Given the description of an element on the screen output the (x, y) to click on. 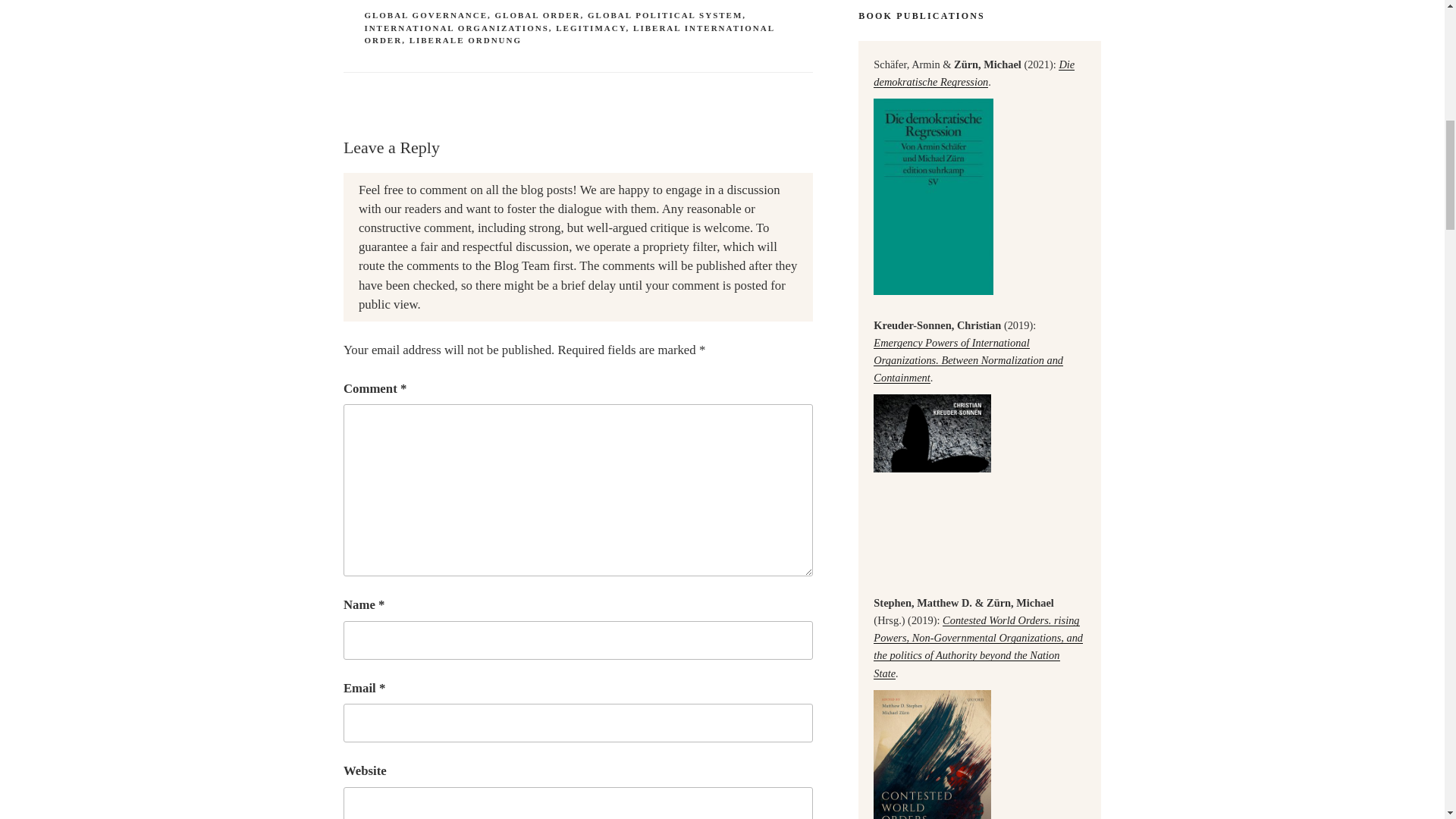
GLOBAL ORDER (537, 14)
LIBERALE ORDNUNG (465, 40)
INTERNATIONAL ORGANIZATIONS (456, 27)
GLOBAL POLITICAL SYSTEM (665, 14)
LEGITIMACY (591, 27)
LIBERAL INTERNATIONAL ORDER (569, 34)
GLOBAL GOVERNANCE (425, 14)
